Given the description of an element on the screen output the (x, y) to click on. 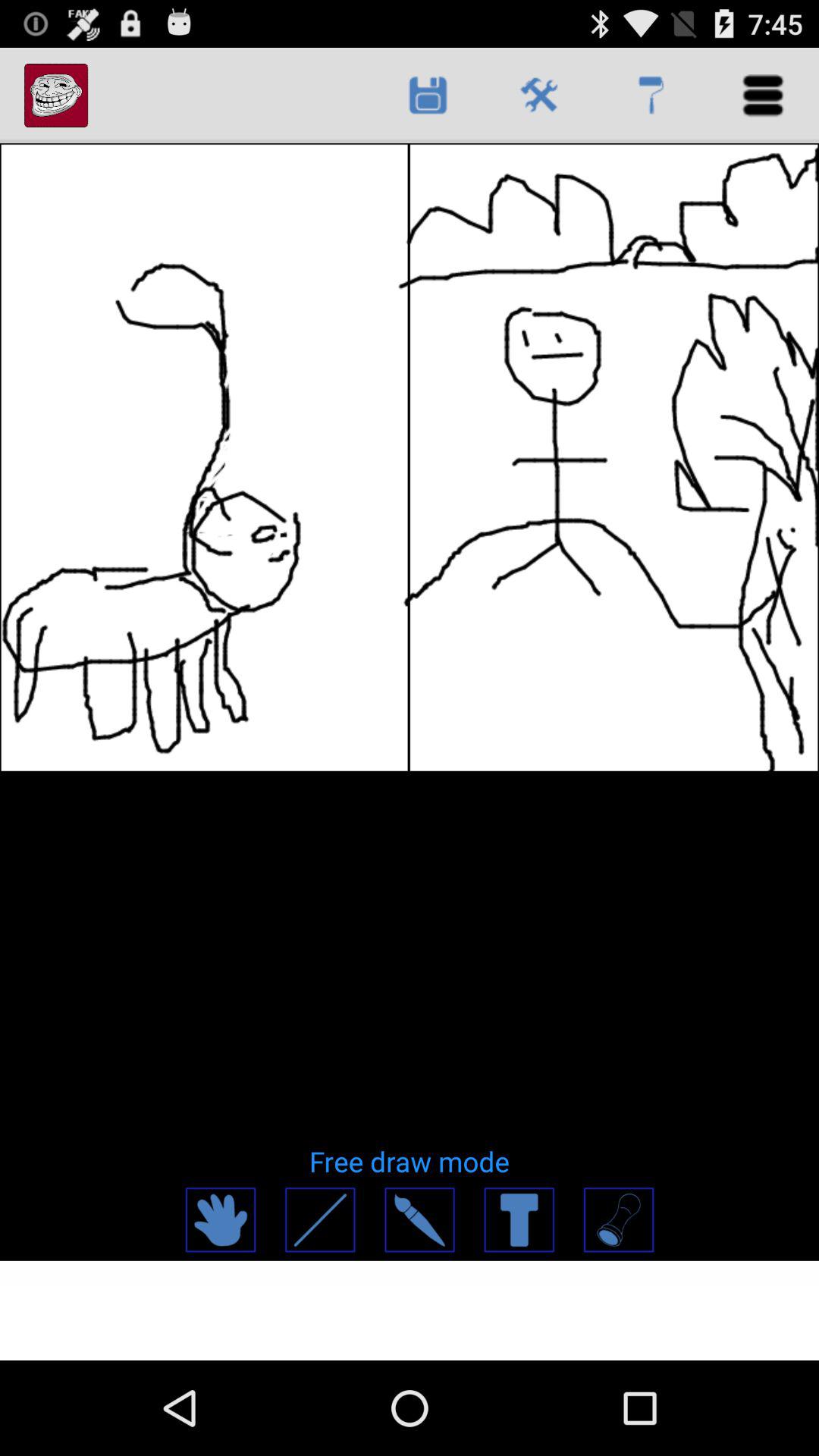
words and text (518, 1219)
